Given the description of an element on the screen output the (x, y) to click on. 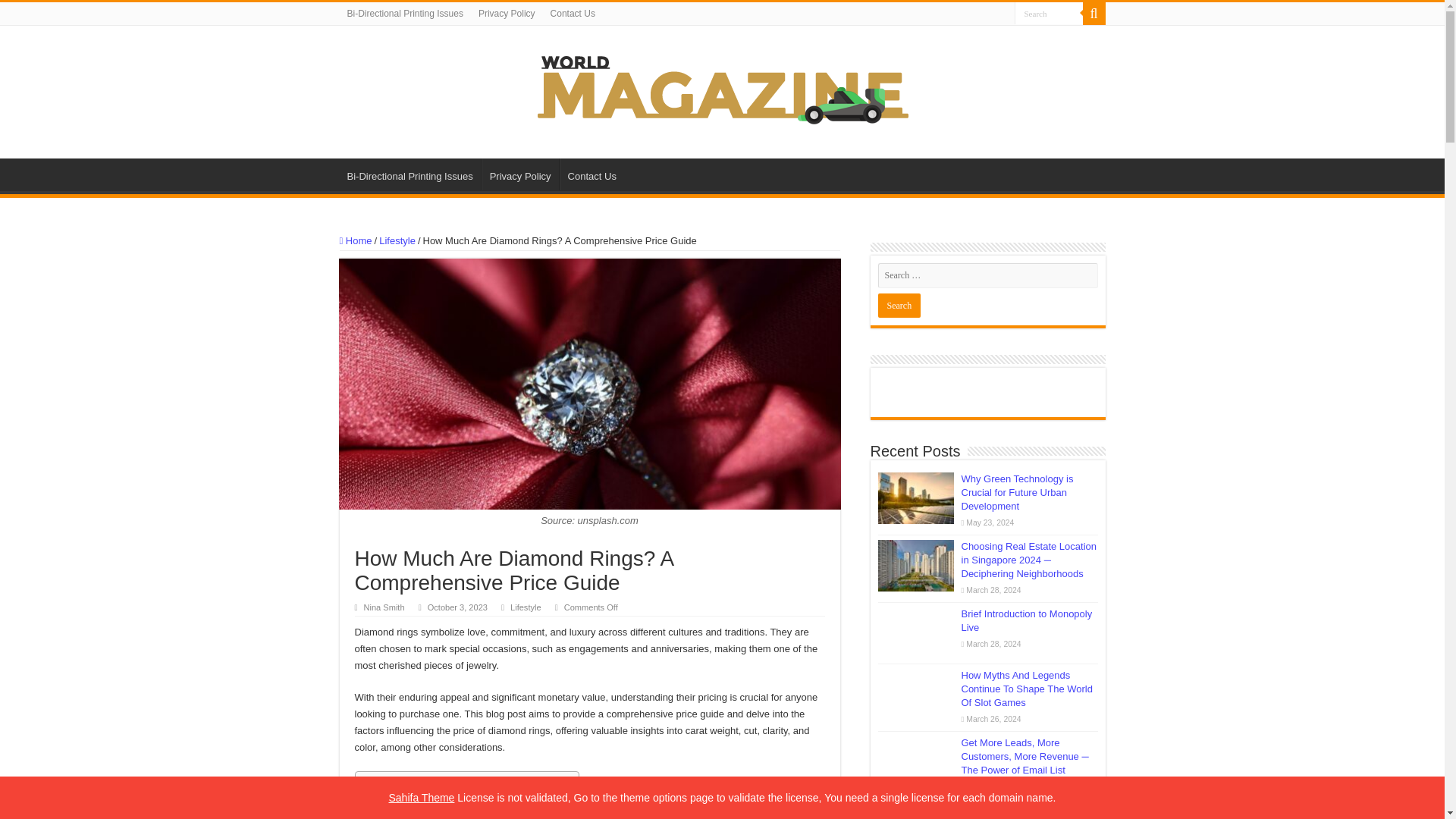
Search (1094, 13)
Lifestyle (526, 606)
Lifestyle (396, 240)
Search (1048, 13)
Bi-Directional Printing Issues (404, 13)
Privacy Policy (520, 174)
Bi-Directional Printing Issues (409, 174)
Search (1048, 13)
Home (355, 240)
Contact Us (591, 174)
Nina Smith (384, 606)
Search (1048, 13)
Privacy Policy (506, 13)
World Magazine 2024 (721, 89)
Search (899, 305)
